Given the description of an element on the screen output the (x, y) to click on. 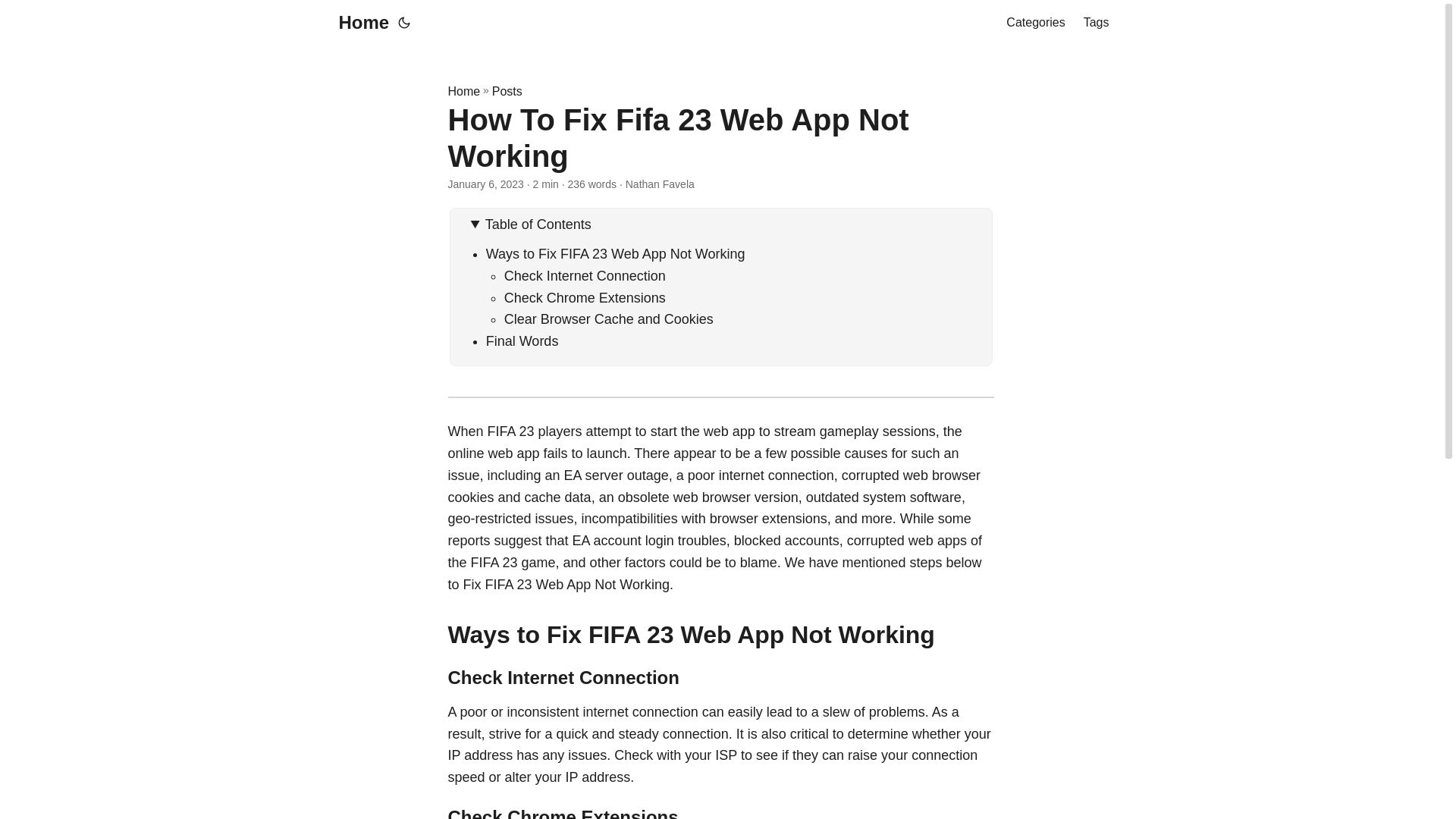
Clear Browser Cache and Cookies (608, 319)
Ways to Fix FIFA 23 Web App Not Working (615, 253)
Check Internet Connection (584, 275)
Home (463, 91)
Categories (1035, 22)
Final Words (522, 340)
Categories (1035, 22)
Home (359, 22)
Check Chrome Extensions (584, 297)
Posts (507, 91)
